Given the description of an element on the screen output the (x, y) to click on. 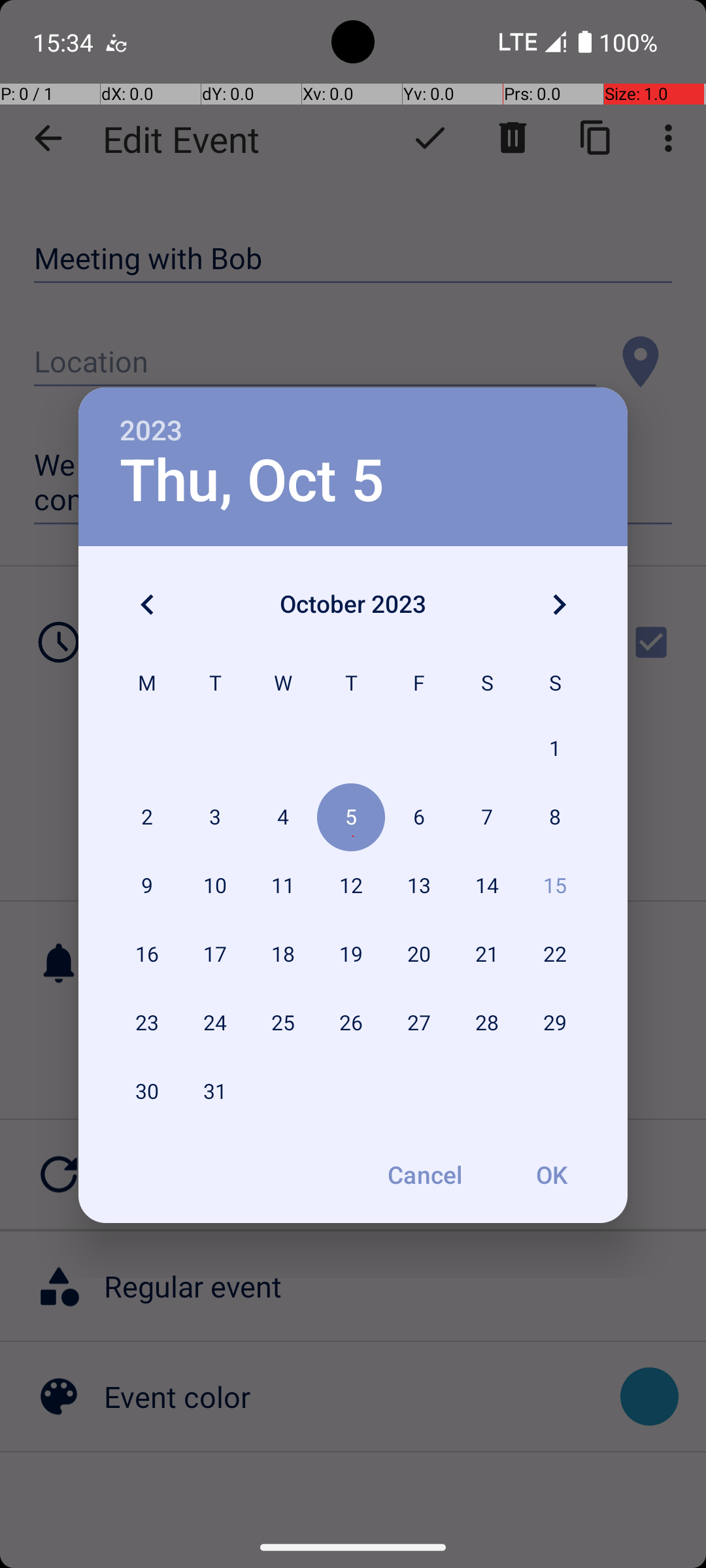
Thu, Oct 5 Element type: android.widget.TextView (251, 480)
